Given the description of an element on the screen output the (x, y) to click on. 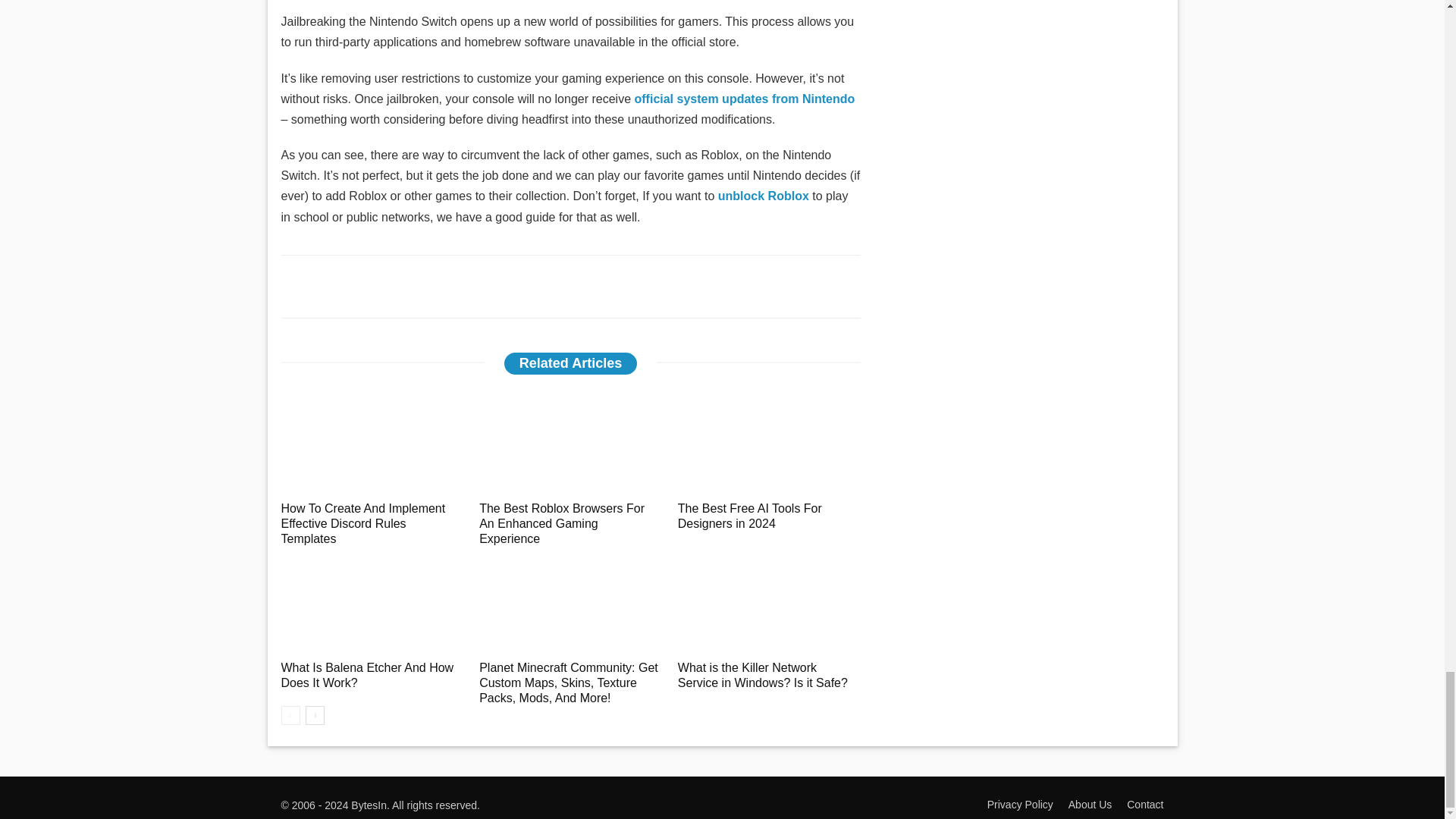
What Is Balena Etcher And How Does It Work? (372, 601)
official system updates from Nintendo (743, 98)
The Best Roblox Browsers For An Enhanced Gaming Experience (570, 442)
What Is Balena Etcher And How Does It Work? (366, 674)
The Best Roblox Browsers For An Enhanced Gaming Experience (562, 523)
The Best Free AI Tools For Designers in 2024 (769, 442)
unblock Roblox (763, 195)
The Best Free AI Tools For Designers in 2024 (750, 515)
